Given the description of an element on the screen output the (x, y) to click on. 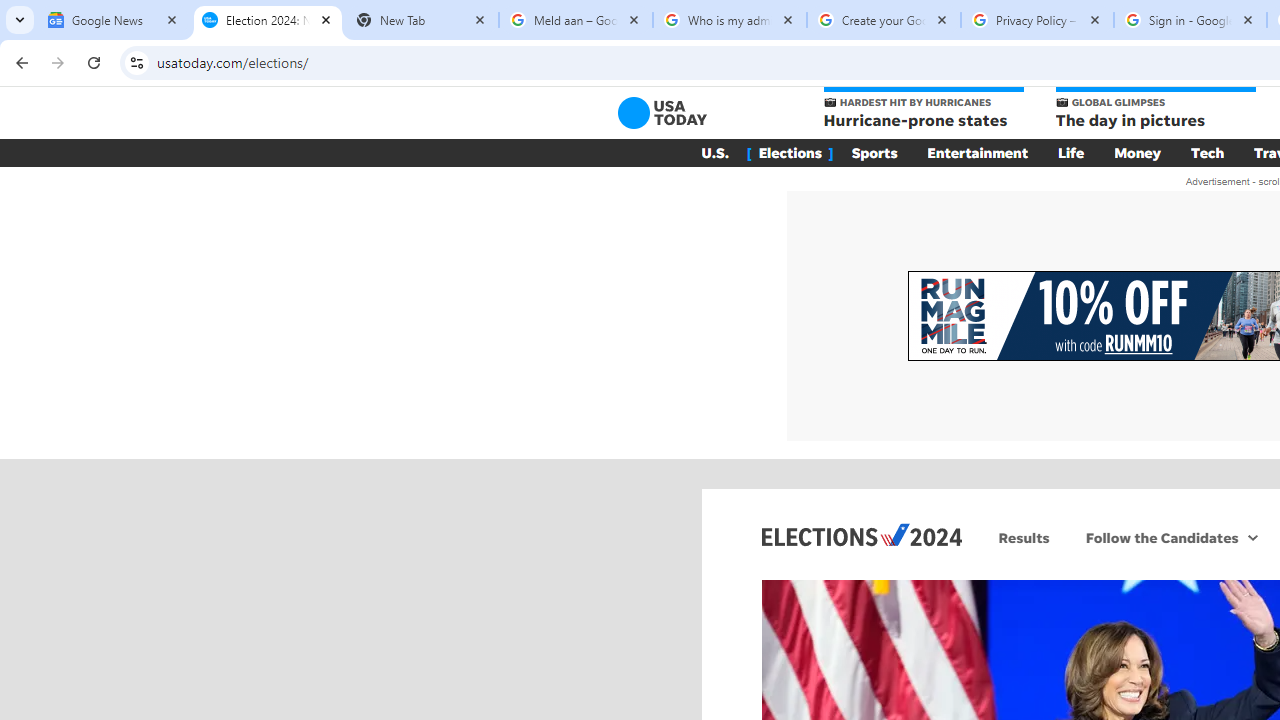
Sign in - Google Accounts (1190, 20)
